Given the description of an element on the screen output the (x, y) to click on. 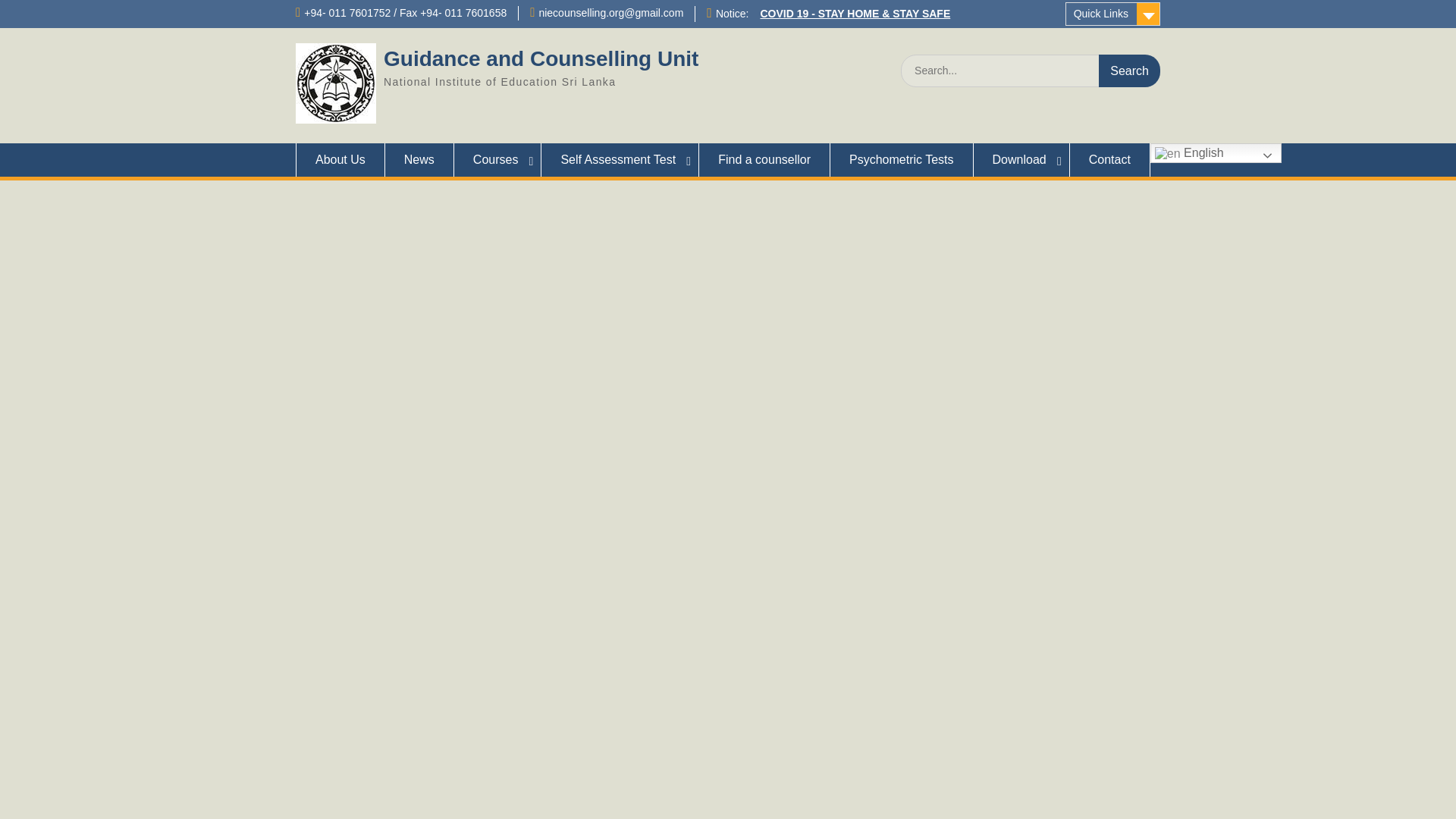
Search (1129, 70)
Contact (1110, 159)
News (419, 159)
Search for: (1030, 70)
Find a counsellor (763, 159)
Courses (497, 159)
About Us (340, 159)
Download (1022, 159)
Quick Links (1112, 13)
Self Assessment Test (619, 159)
Psychometric Tests (901, 159)
Guidance and Counselling Unit (541, 58)
Search (1129, 70)
English (1215, 152)
Search (1129, 70)
